Given the description of an element on the screen output the (x, y) to click on. 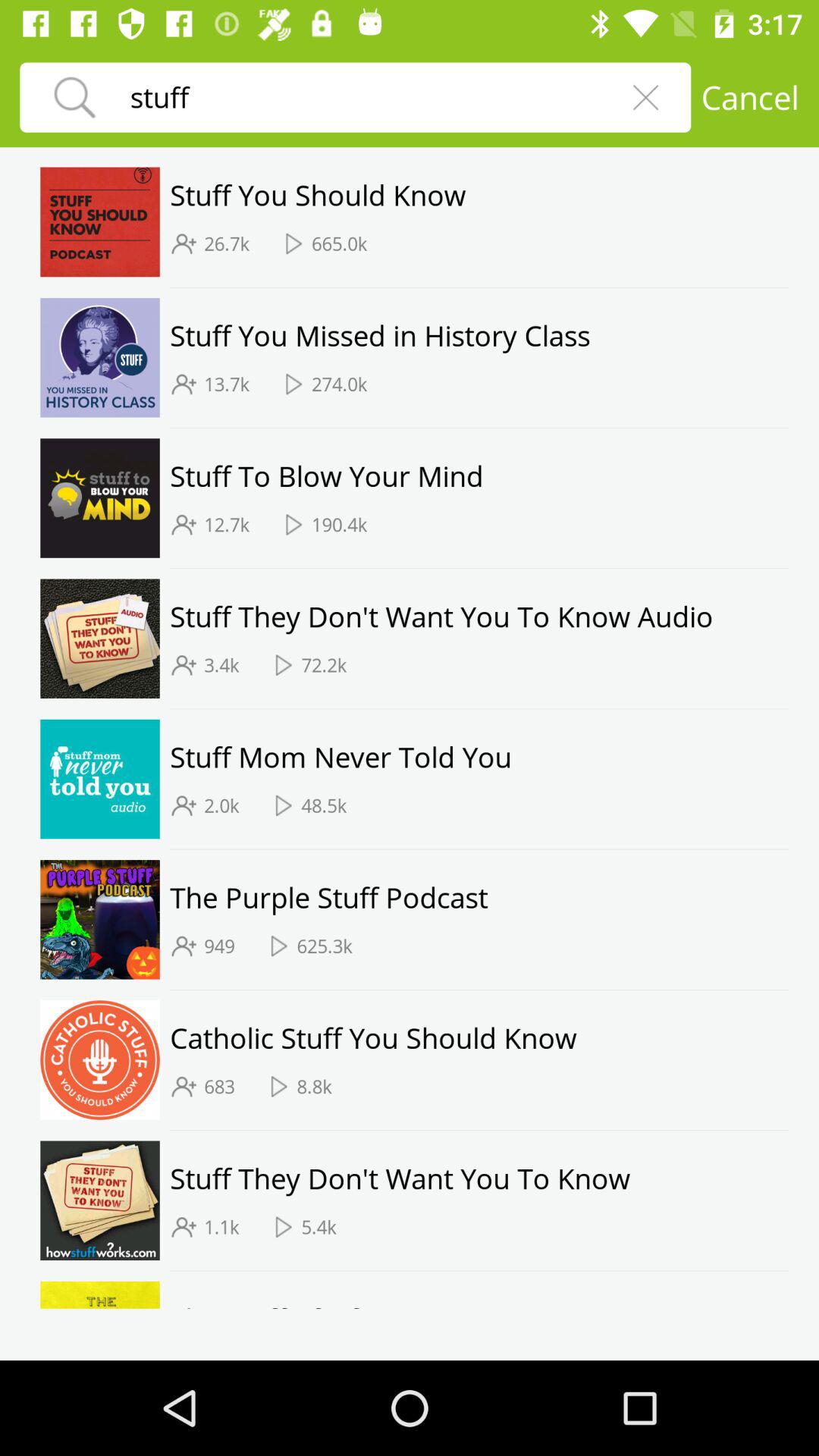
launch icon above the stuff to blow icon (478, 427)
